Given the description of an element on the screen output the (x, y) to click on. 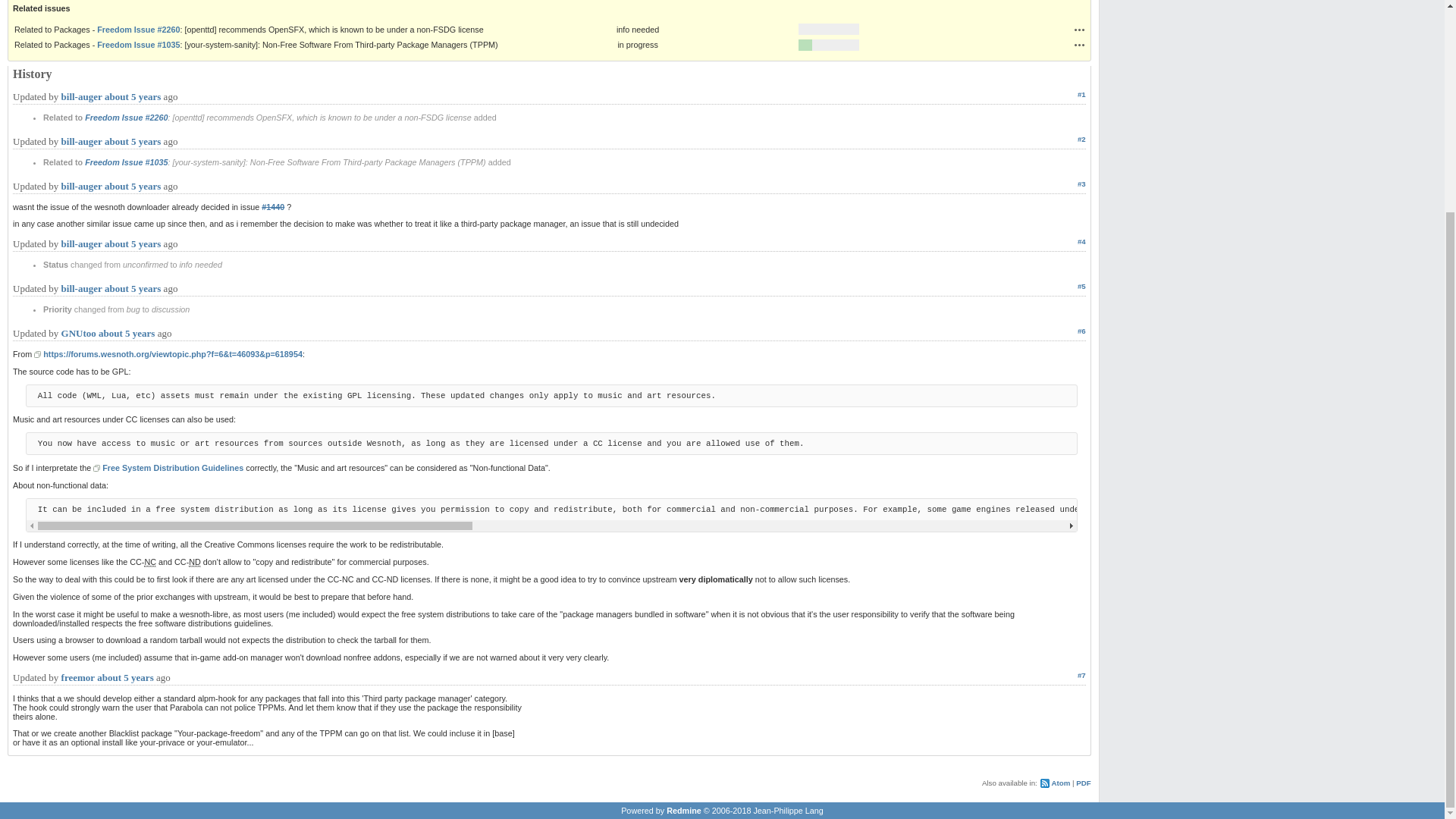
bill-auger (81, 141)
Actions (1080, 44)
2019-04-28 11:09 PM (132, 243)
Actions (1080, 29)
Actions (1080, 44)
2019-04-28 11:07 PM (132, 96)
2019-04-28 11:09 PM (132, 288)
bill-auger (81, 96)
2019-05-02 09:05 PM (126, 333)
Actions (1080, 29)
2019-04-28 11:08 PM (132, 141)
about 5 years (132, 96)
2019-04-28 11:09 PM (132, 185)
